Given the description of an element on the screen output the (x, y) to click on. 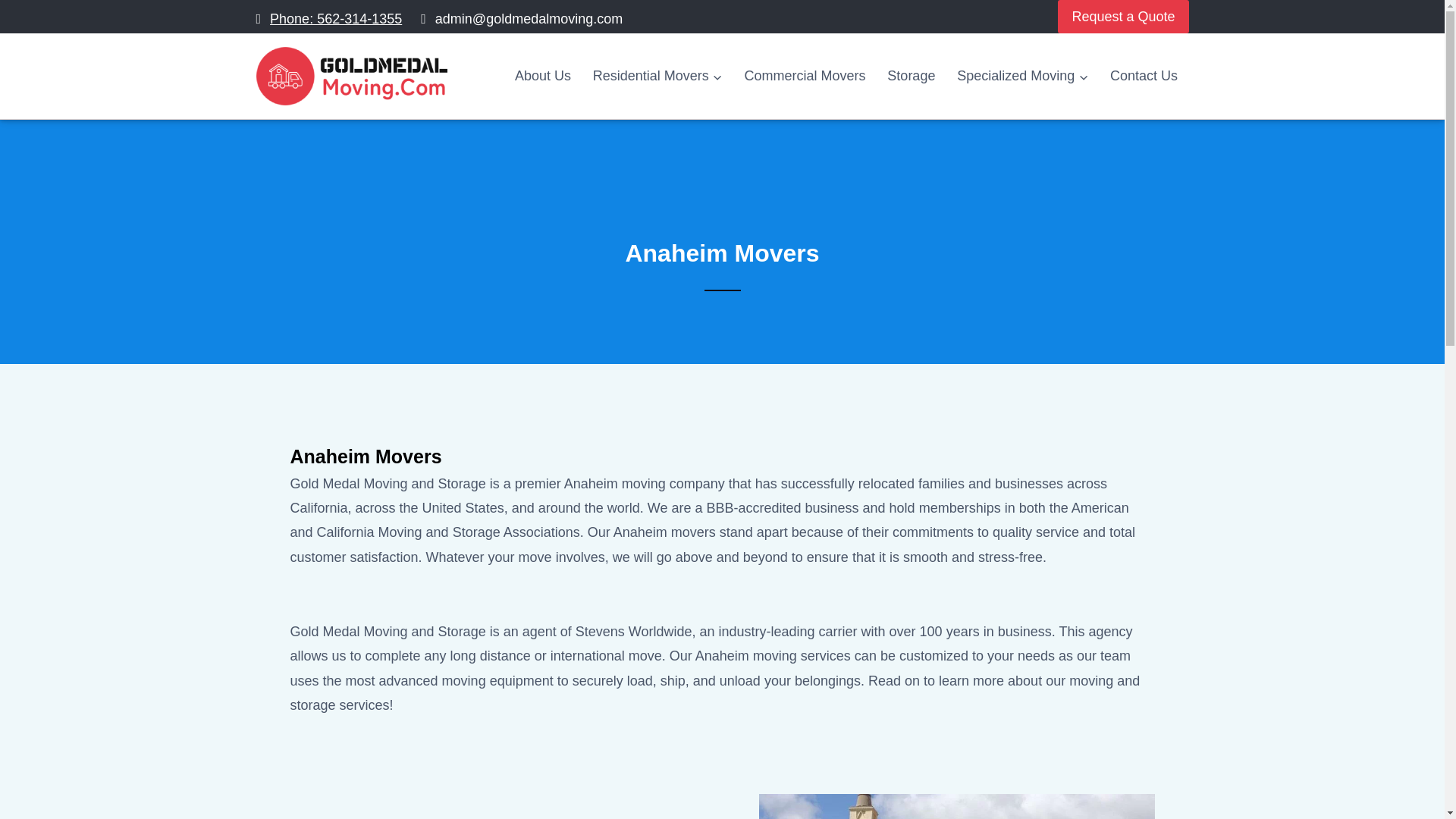
Phone: 562-314-1355 (329, 18)
Request a Quote (1123, 16)
Storage (911, 76)
Contact Us (1144, 76)
Specialized Moving (1022, 76)
About Us (541, 76)
Commercial Movers (804, 76)
Residential Movers (656, 76)
